Given the description of an element on the screen output the (x, y) to click on. 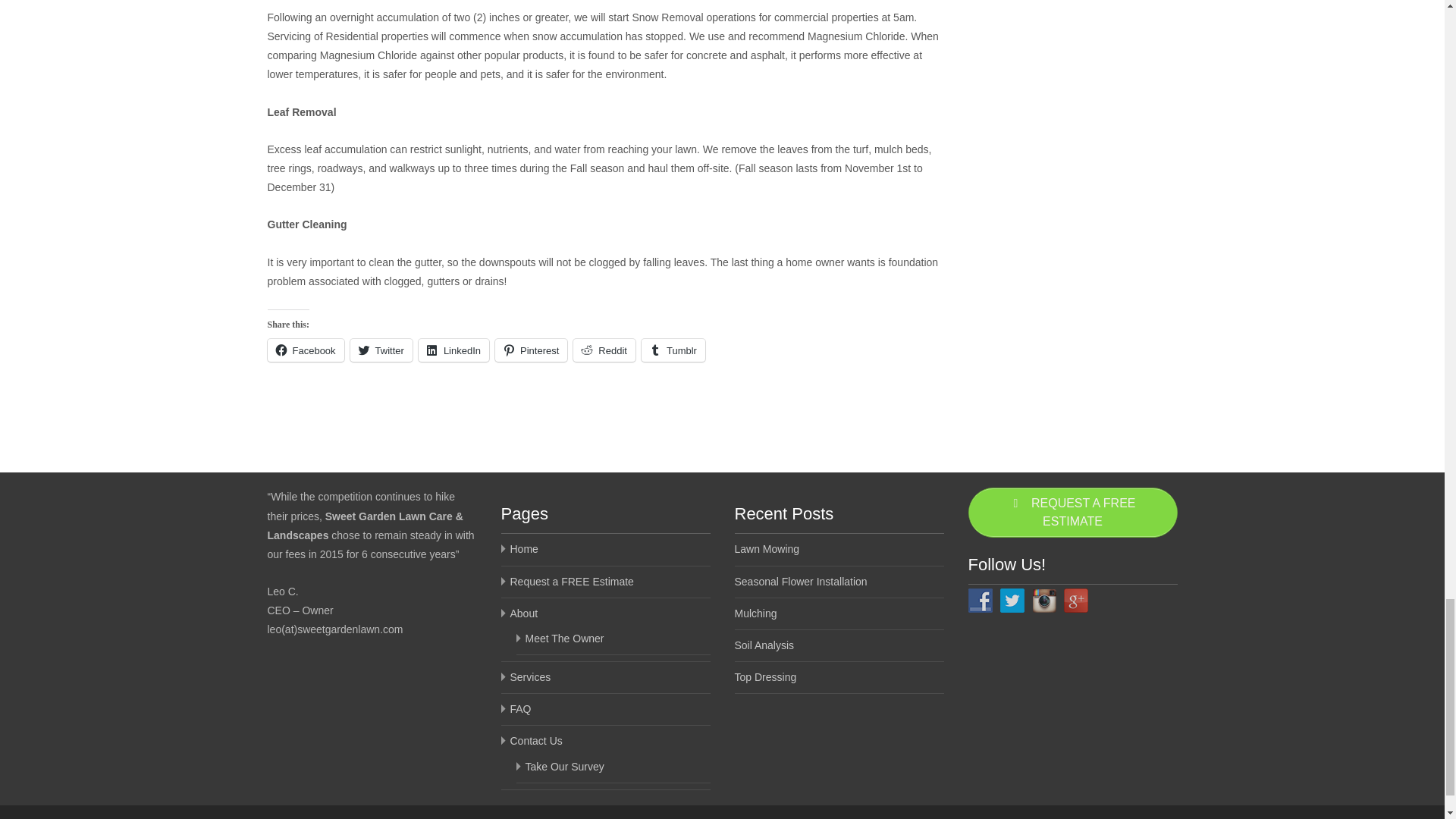
LinkedIn (454, 350)
Reddit (603, 350)
Twitter (381, 350)
Facebook (304, 350)
Tumblr (673, 350)
Pinterest (531, 350)
